Given the description of an element on the screen output the (x, y) to click on. 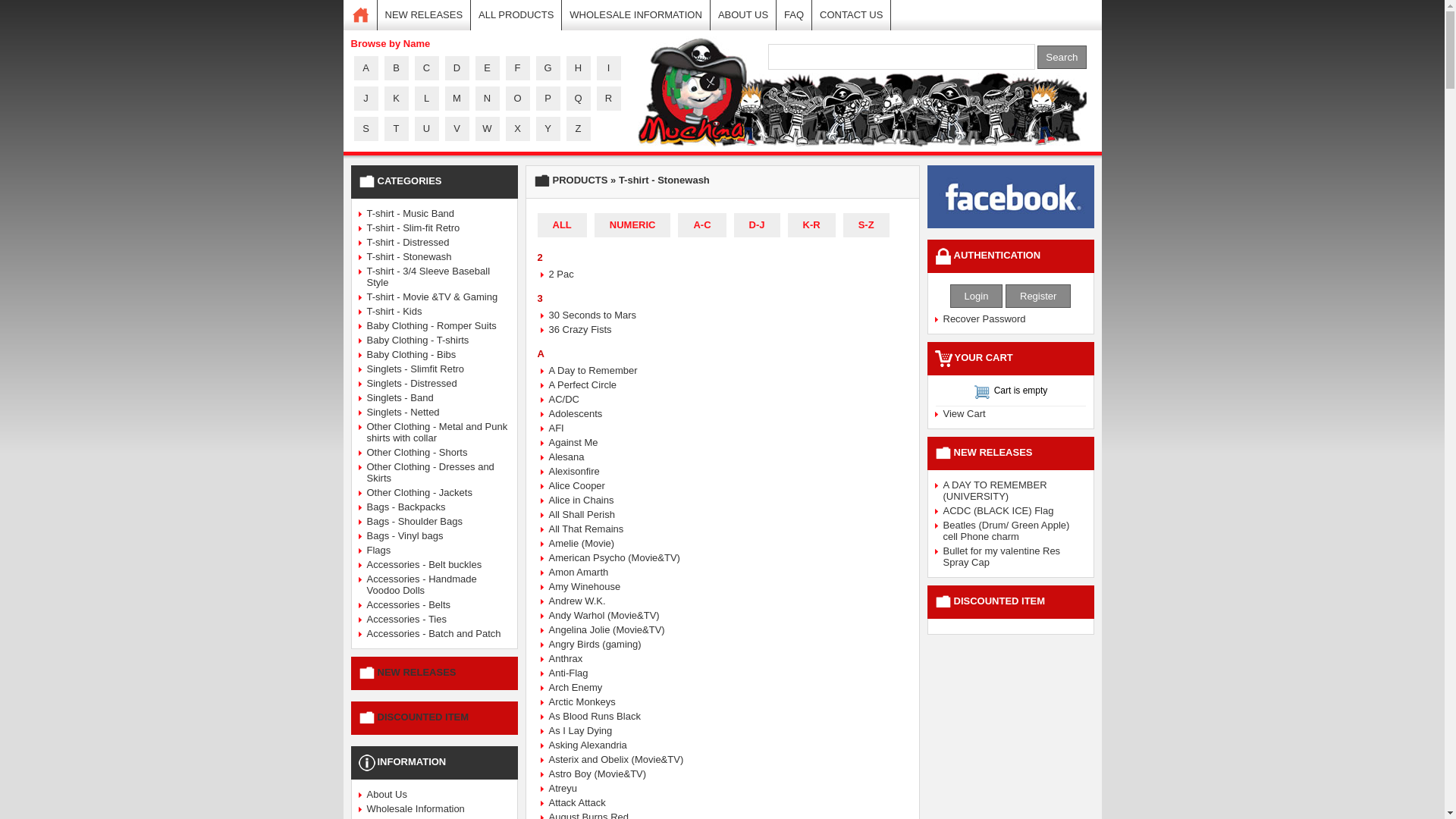
B Element type: text (395, 68)
View Cart Element type: text (964, 413)
T-shirt - Music Band Element type: text (411, 213)
V Element type: text (456, 128)
Baby Clothing - Romper Suits Element type: text (431, 325)
A Perfect Circle Element type: text (583, 384)
T-shirt - Slim-fit Retro Element type: text (413, 227)
Other Clothing - Dresses and Skirts Element type: text (430, 472)
Arctic Monkeys Element type: text (582, 701)
All Shall Perish Element type: text (582, 514)
X Element type: text (517, 128)
Andy Warhol (Movie&TV) Element type: text (604, 615)
Bullet for my valentine Res Spray Cap Element type: text (1001, 556)
U Element type: text (426, 128)
Amon Amarth Element type: text (578, 571)
I Element type: text (608, 68)
Bags - Backpacks Element type: text (406, 506)
A Element type: text (365, 68)
ALL Element type: text (561, 225)
Attack Attack Element type: text (577, 802)
Flags Element type: text (379, 549)
Bags - Shoulder Bags Element type: text (414, 521)
ABOUT US Element type: text (743, 15)
T-shirt - Stonewash Element type: text (409, 256)
Amelie (Movie) Element type: text (582, 543)
DISCOUNTED ITEM Element type: text (412, 716)
2 Pac Element type: text (561, 273)
Against Me Element type: text (573, 442)
ALL PRODUCTS Element type: text (515, 15)
Alexisonfire Element type: text (574, 470)
Arch Enemy Element type: text (575, 687)
Angry Birds (gaming) Element type: text (595, 643)
Singlets - Band Element type: text (400, 397)
Amy Winehouse Element type: text (585, 586)
J Element type: text (365, 98)
Singlets - Netted Element type: text (403, 411)
CONTACT US Element type: text (851, 15)
Z Element type: text (577, 128)
E Element type: text (486, 68)
M Element type: text (456, 98)
Register Element type: text (1037, 295)
F Element type: text (517, 68)
Beatles (Drum/ Green Apple) cell Phone charm Element type: text (1006, 530)
K Element type: text (395, 98)
Y Element type: text (547, 128)
T Element type: text (395, 128)
T-shirt - Movie &TV & Gaming Element type: text (432, 296)
T-shirt - 3/4 Sleeve Baseball Style Element type: text (428, 276)
As Blood Runs Black Element type: text (594, 715)
About Us Element type: text (387, 794)
D Element type: text (456, 68)
Angelina Jolie (Movie&TV) Element type: text (607, 629)
N Element type: text (486, 98)
Accessories - Handmade Voodoo Dolls Element type: text (421, 584)
T-shirt - Distressed Element type: text (408, 241)
C Element type: text (426, 68)
Alice Cooper Element type: text (577, 485)
As I Lay Dying Element type: text (580, 730)
FAQ Element type: text (794, 15)
NUMERIC Element type: text (632, 225)
ACDC (BLACK ICE) Flag Element type: text (998, 510)
A-C Element type: text (701, 225)
H Element type: text (577, 68)
AC/DC Element type: text (564, 398)
R Element type: text (608, 98)
T-shirt - Kids Element type: text (394, 310)
AFI Element type: text (556, 427)
Asterix and Obelix (Movie&TV) Element type: text (616, 759)
American Psycho (Movie&TV) Element type: text (614, 557)
36 Crazy Fists Element type: text (580, 329)
S Element type: text (365, 128)
L Element type: text (426, 98)
NEW RELEASES Element type: text (406, 671)
Accessories - Batch and Patch Element type: text (434, 633)
NEW RELEASES Element type: text (424, 15)
A Day to Remember Element type: text (593, 370)
Singlets - Slimfit Retro Element type: text (415, 368)
O Element type: text (517, 98)
Other Clothing - Jackets Element type: text (419, 492)
Q Element type: text (577, 98)
Anti-Flag Element type: text (568, 672)
Astro Boy (Movie&TV) Element type: text (597, 773)
Andrew W.K. Element type: text (577, 600)
K-R Element type: text (811, 225)
Baby Clothing - T-shirts Element type: text (418, 339)
WHOLESALE INFORMATION Element type: text (635, 15)
30 Seconds to Mars Element type: text (593, 314)
G Element type: text (547, 68)
Search Element type: text (1061, 57)
Atreyu Element type: text (563, 787)
A DAY TO REMEMBER (UNIVERSITY) Element type: text (995, 490)
S-Z Element type: text (866, 225)
Bags - Vinyl bags Element type: text (405, 535)
Wholesale Information Element type: text (415, 808)
Accessories - Ties Element type: text (406, 618)
Accessories - Belt buckles Element type: text (424, 564)
Other Clothing - Metal and Punk shirts with collar Element type: text (437, 431)
Alice in Chains Element type: text (581, 499)
W Element type: text (486, 128)
Alesana Element type: text (566, 456)
Asking Alexandria Element type: text (588, 744)
D-J Element type: text (757, 225)
P Element type: text (547, 98)
Other Clothing - Shorts Element type: text (417, 452)
Adolescents Element type: text (575, 413)
Singlets - Distressed Element type: text (412, 383)
Anthrax Element type: text (566, 658)
Login Element type: text (976, 295)
Recover Password Element type: text (984, 318)
Baby Clothing - Bibs Element type: text (411, 354)
Accessories - Belts Element type: text (409, 604)
All That Remains Element type: text (586, 528)
